Given the description of an element on the screen output the (x, y) to click on. 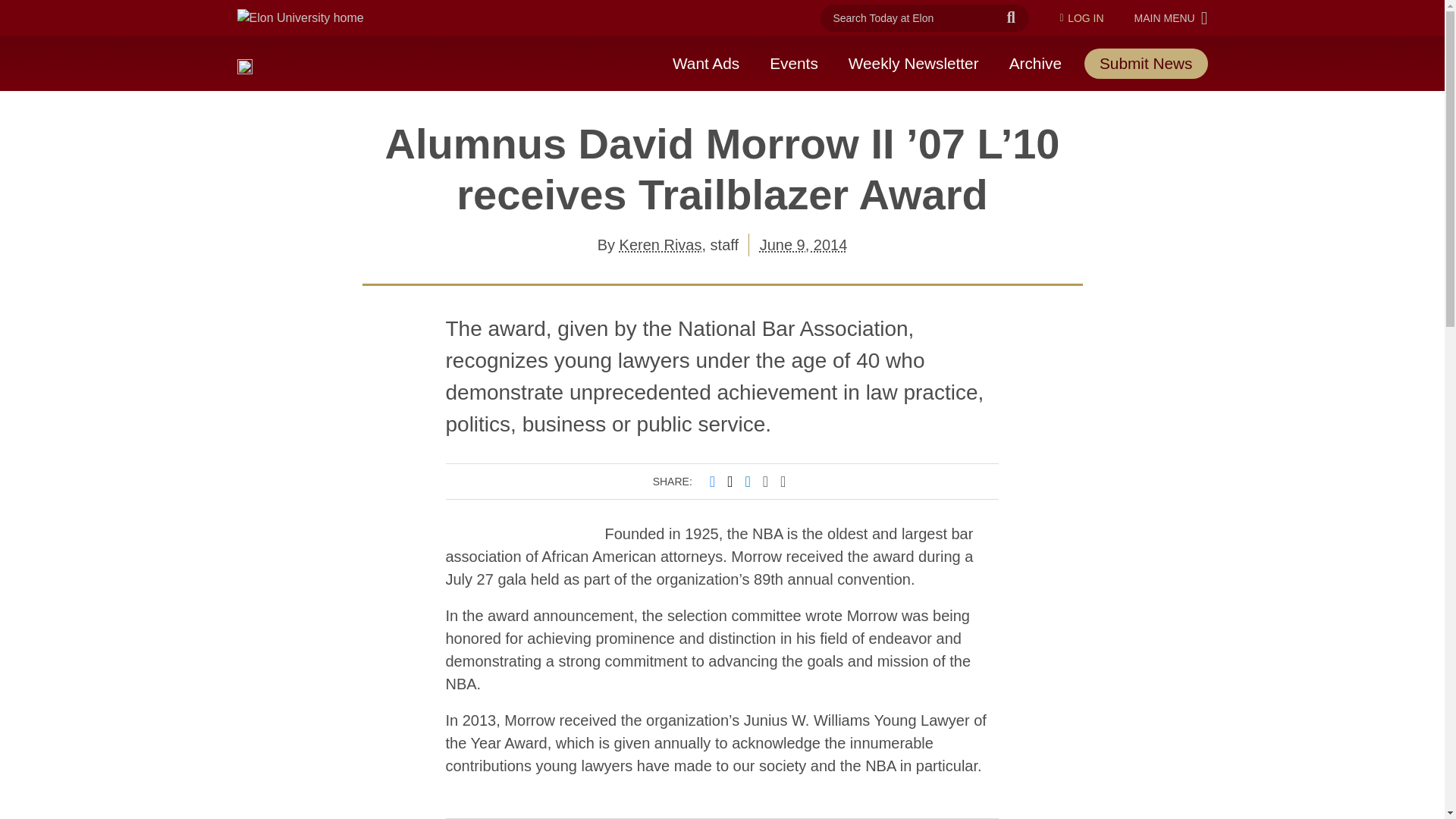
Events (1171, 18)
June 9, 2014 (793, 63)
Weekly Newsletter (803, 244)
Submit Search (913, 63)
LOG IN (1010, 17)
Archive (1081, 18)
Keren Rivas (1035, 63)
Want Ads (660, 244)
Submit News (706, 63)
